Given the description of an element on the screen output the (x, y) to click on. 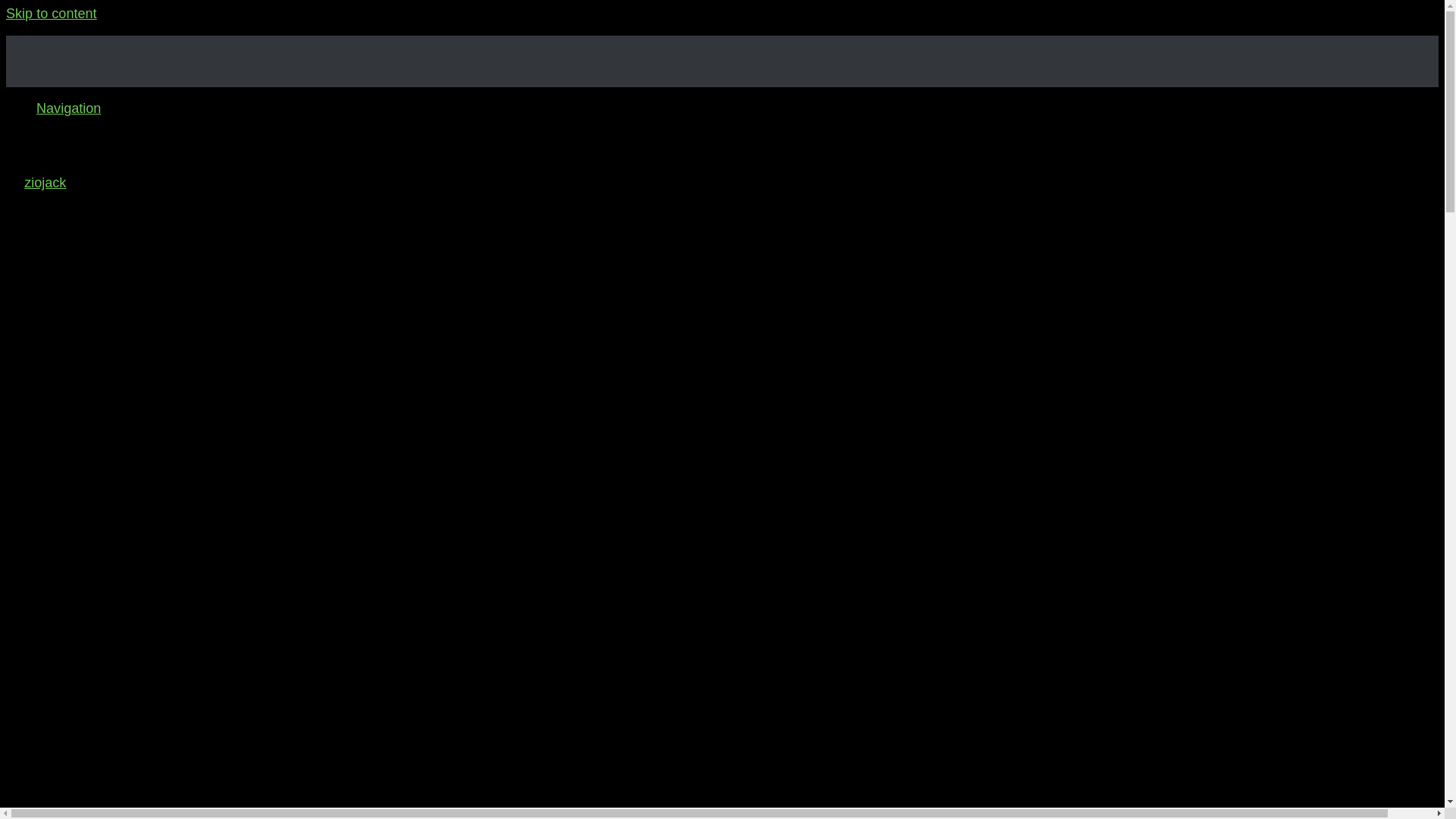
Posts by ziojack (44, 182)
Navigation (68, 108)
ziojack (44, 182)
Skip to content (51, 13)
